Given the description of an element on the screen output the (x, y) to click on. 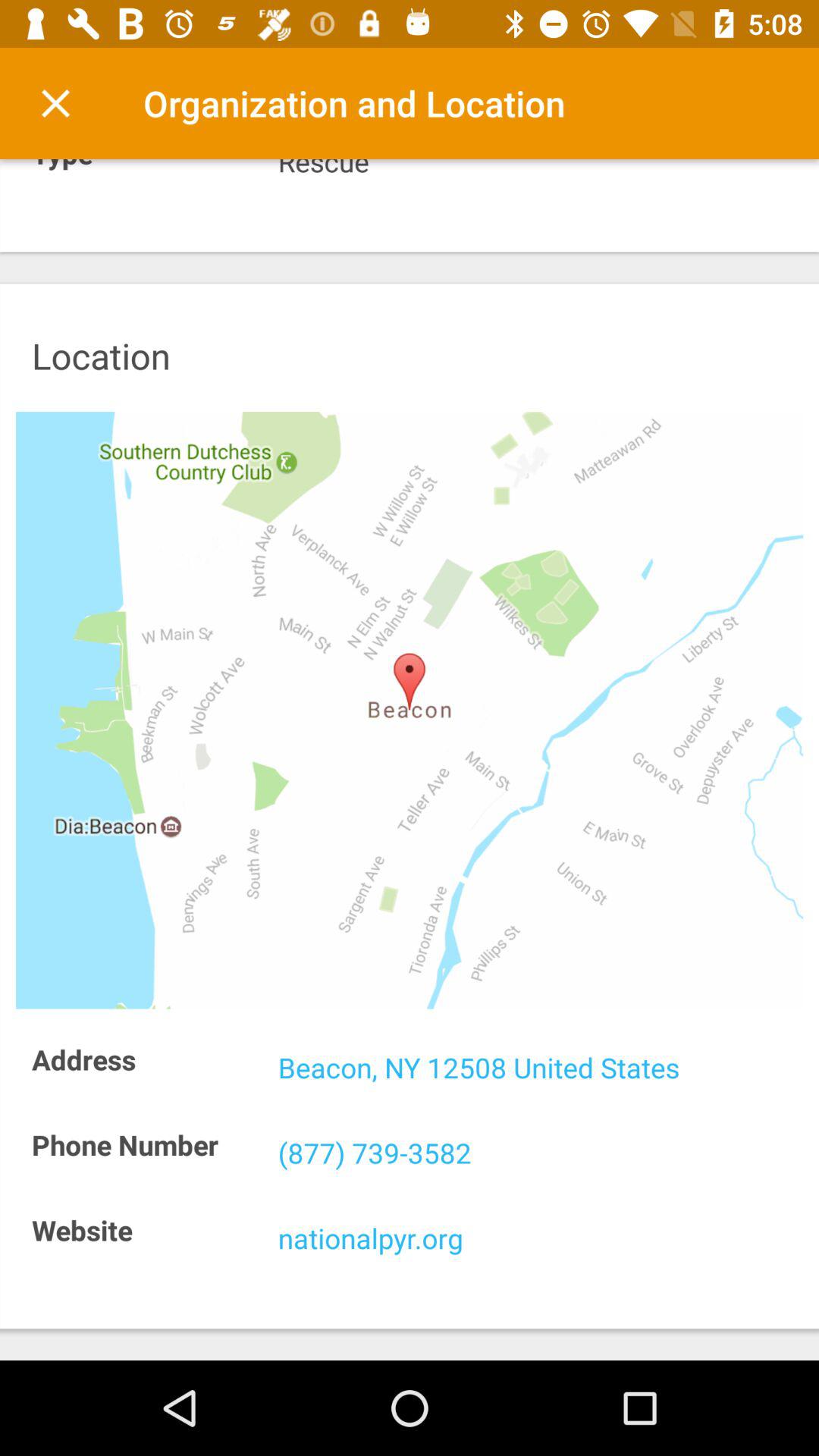
see the map (409, 709)
